Given the description of an element on the screen output the (x, y) to click on. 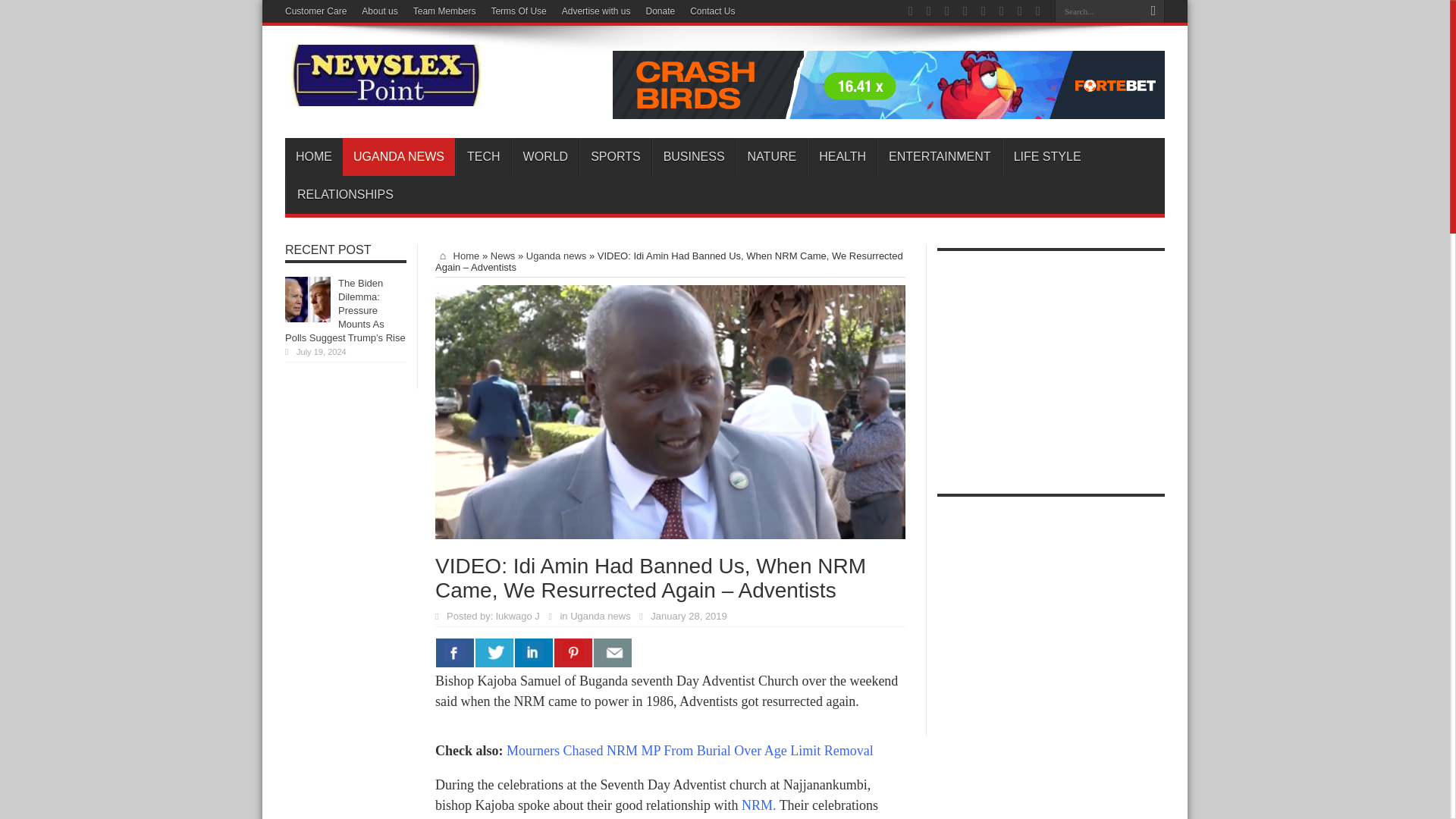
Search... (1097, 11)
Donate (660, 11)
HOME (313, 157)
UGANDA NEWS (398, 157)
Advertise with us (596, 11)
Newslex Point (385, 94)
Team Members (444, 11)
Customer Care (315, 11)
Search (1152, 11)
TECH (483, 157)
Contact Us (712, 11)
Terms Of Use (518, 11)
About us (379, 11)
